Given the description of an element on the screen output the (x, y) to click on. 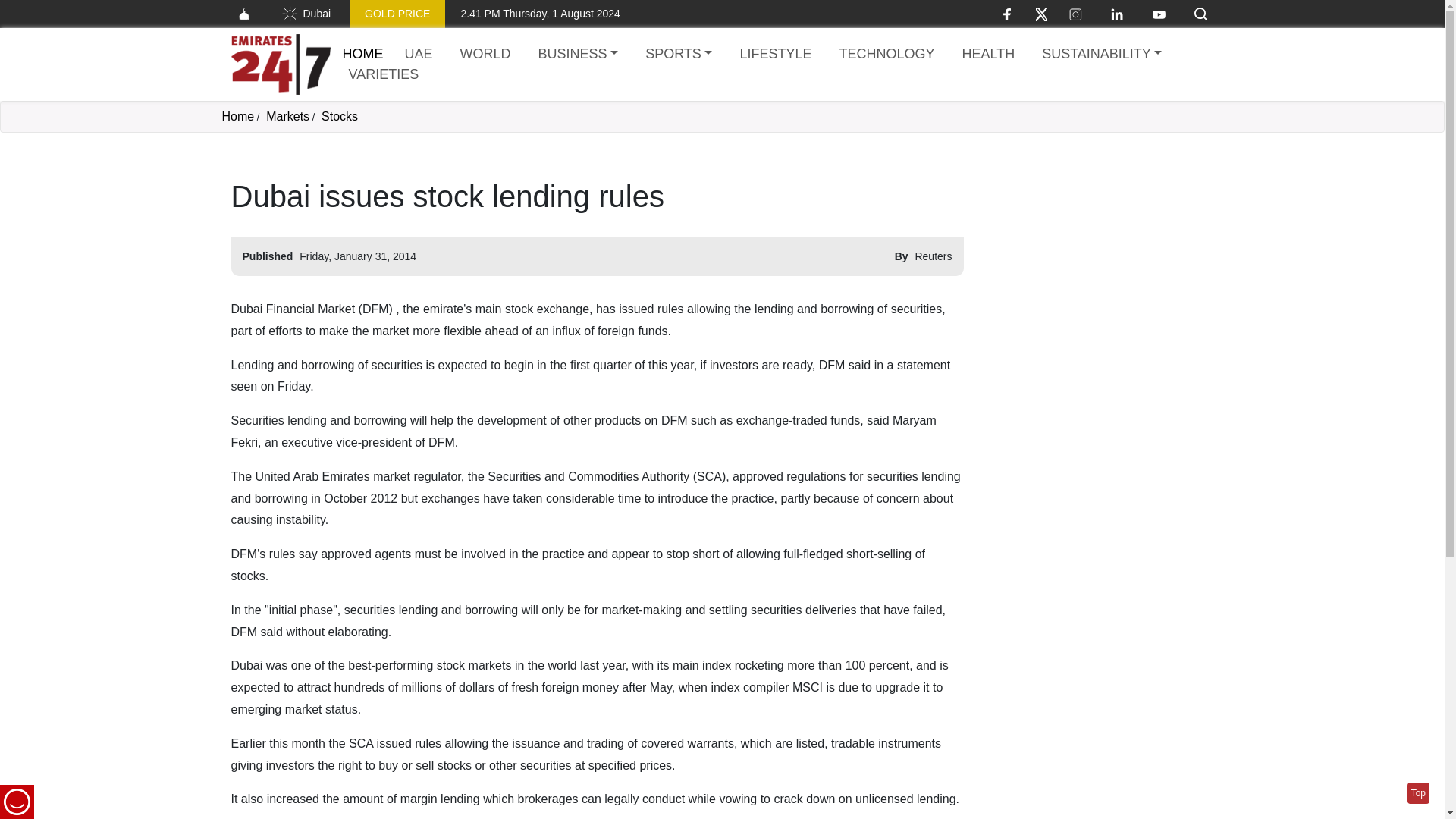
Home (363, 53)
Home (237, 115)
GOLD PRICE (397, 13)
UAE (418, 54)
Stocks (339, 115)
Markets (287, 115)
HOME (363, 53)
LIFESTYLE (774, 54)
Dubai (305, 13)
VARIETIES (383, 74)
BUSINESS (578, 54)
TECHNOLOGY (886, 54)
Go to top (1418, 792)
SUSTAINABILITY (1101, 54)
SPORTS (678, 54)
